Given the description of an element on the screen output the (x, y) to click on. 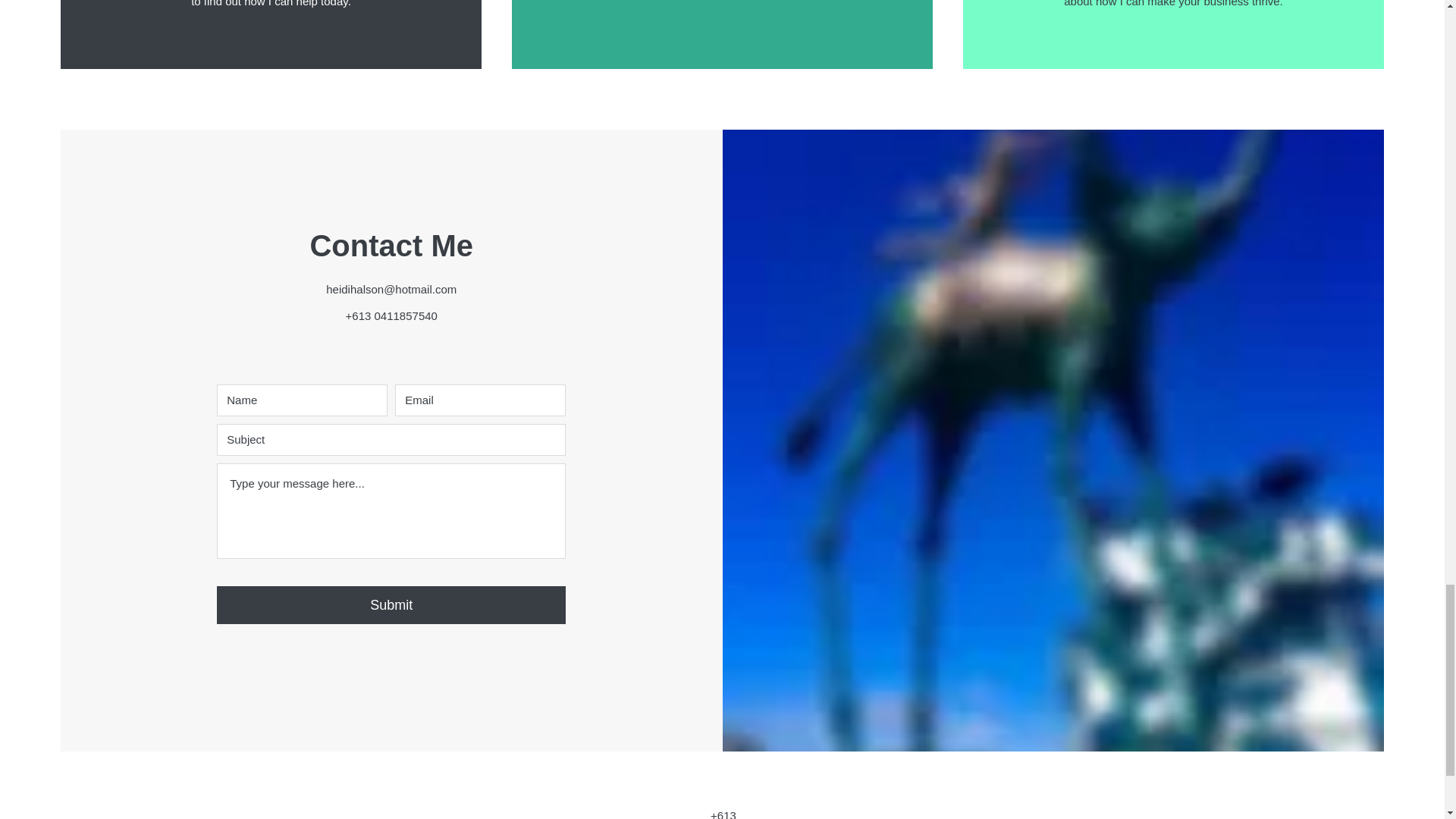
Submit (391, 605)
